Given the description of an element on the screen output the (x, y) to click on. 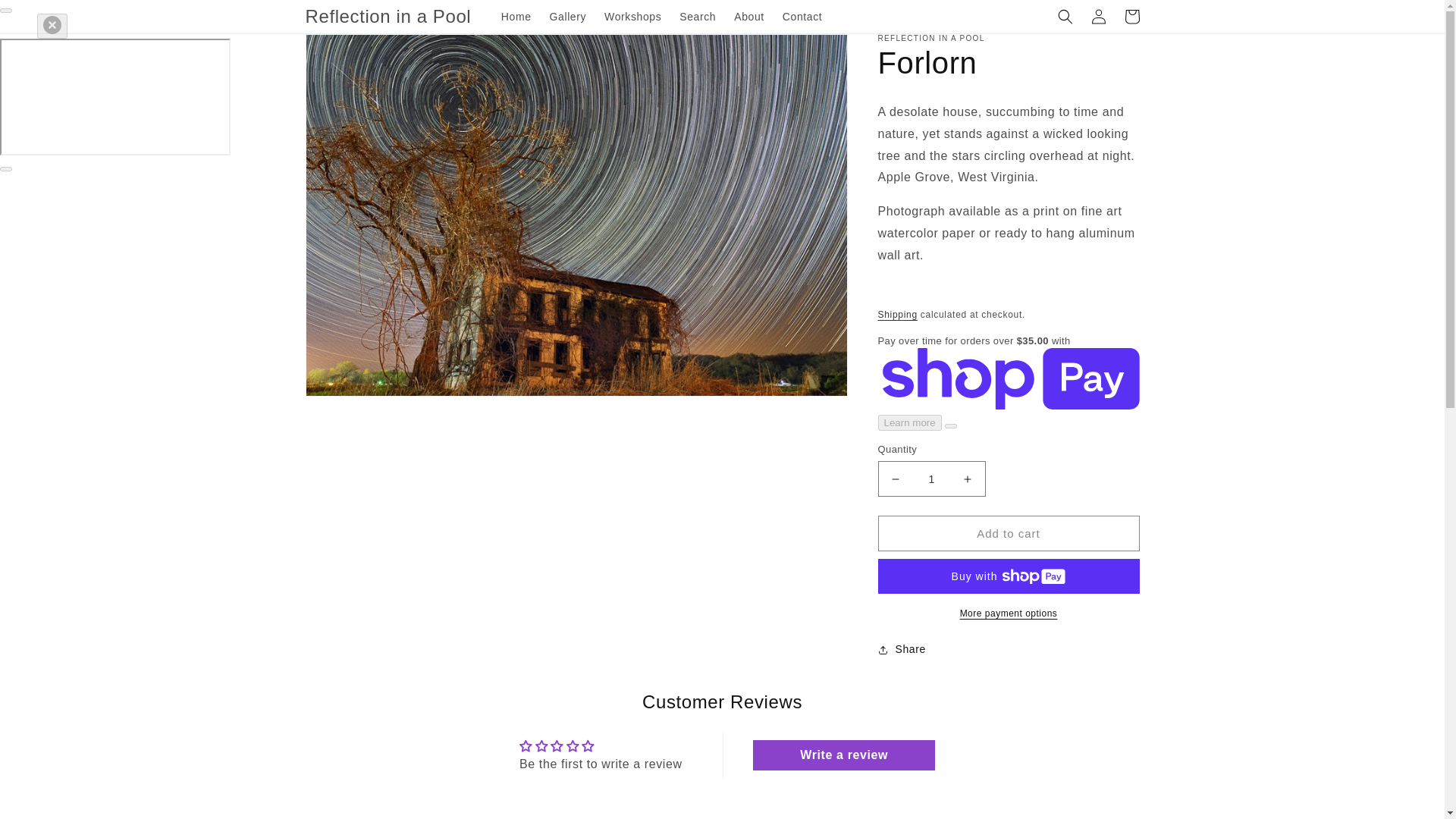
Workshops (632, 16)
Cart (1131, 16)
Decrease quantity for Forlorn (894, 478)
Skip to content (45, 17)
1 (931, 478)
Skip to product information (350, 50)
Shipping (897, 314)
More payment options (1008, 613)
Gallery (567, 16)
Home (516, 16)
Search (697, 16)
Log in (1098, 16)
Reflection in a Pool (388, 16)
Increase quantity for Forlorn (967, 478)
About (749, 16)
